Given the description of an element on the screen output the (x, y) to click on. 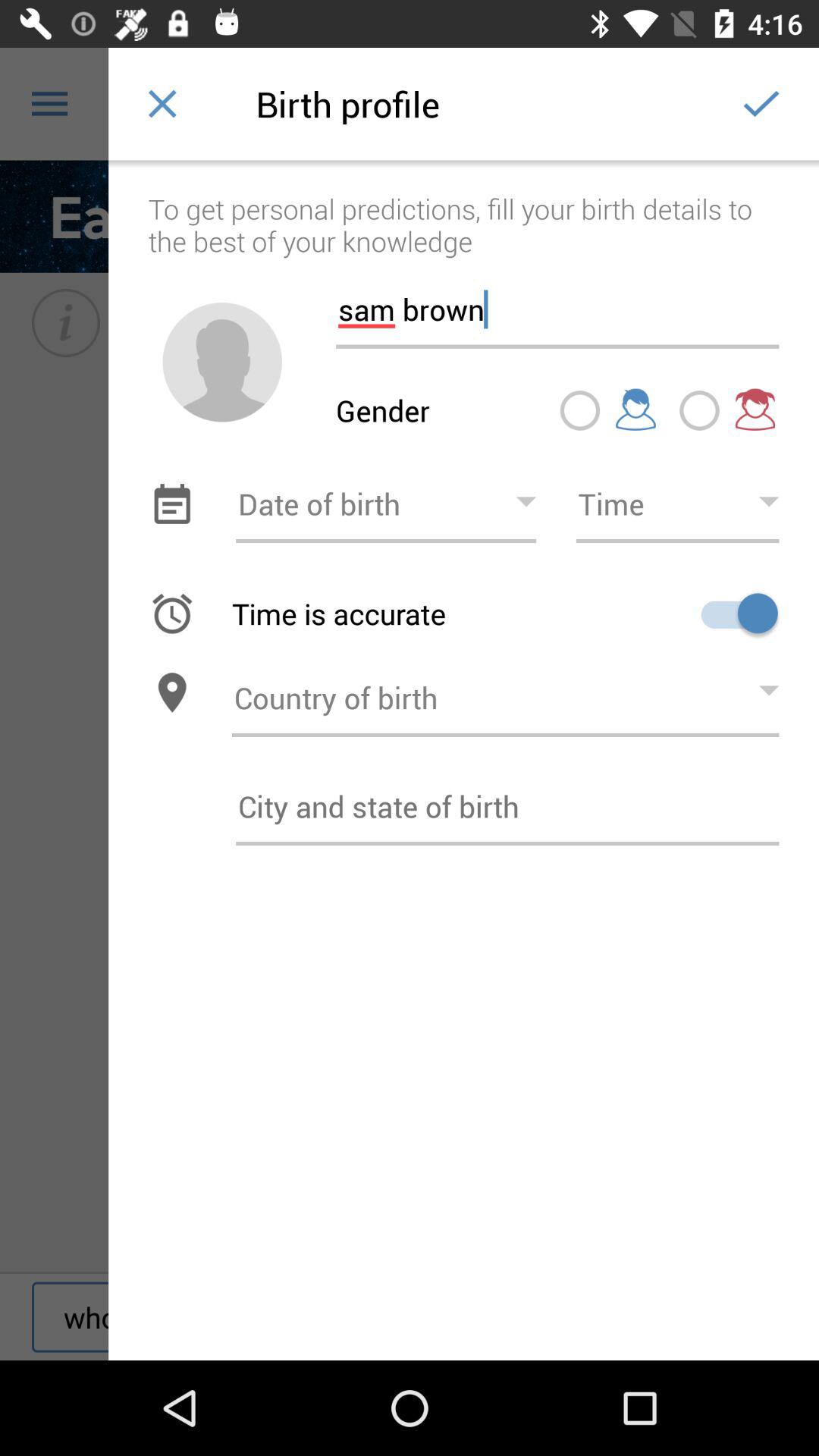
select item below the to get personal icon (222, 362)
